Given the description of an element on the screen output the (x, y) to click on. 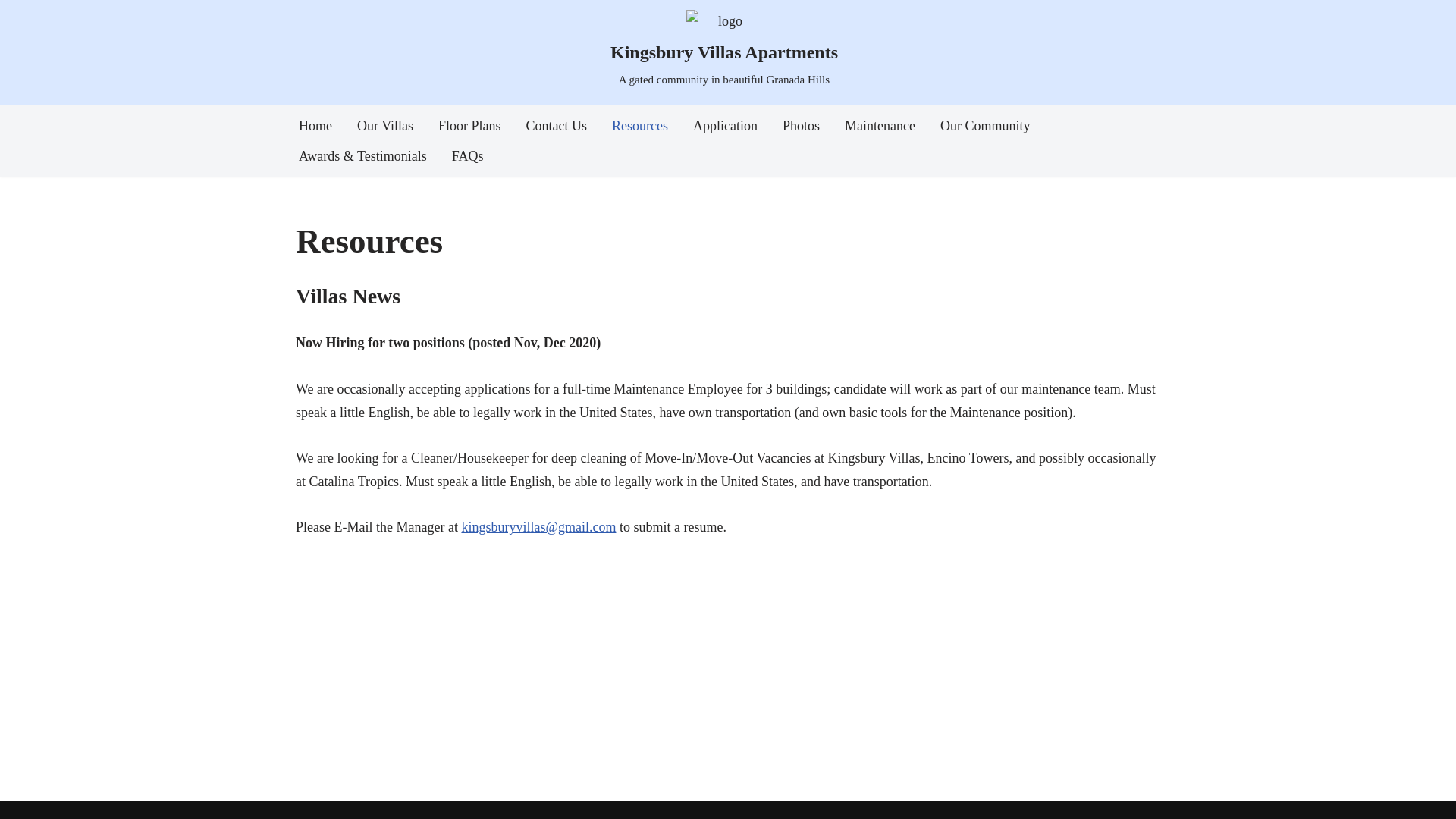
Skip to content Element type: text (11, 31)
Application Element type: text (725, 125)
FAQs Element type: text (467, 156)
Our Villas Element type: text (385, 125)
kingsburyvillas@gmail.com Element type: text (538, 526)
Photos Element type: text (800, 125)
Resources Element type: text (639, 125)
Maintenance Element type: text (879, 125)
Home Element type: text (315, 125)
Awards & Testimonials Element type: text (362, 156)
Our Community Element type: text (985, 125)
Floor Plans Element type: text (469, 125)
Contact Us Element type: text (556, 125)
